Given the description of an element on the screen output the (x, y) to click on. 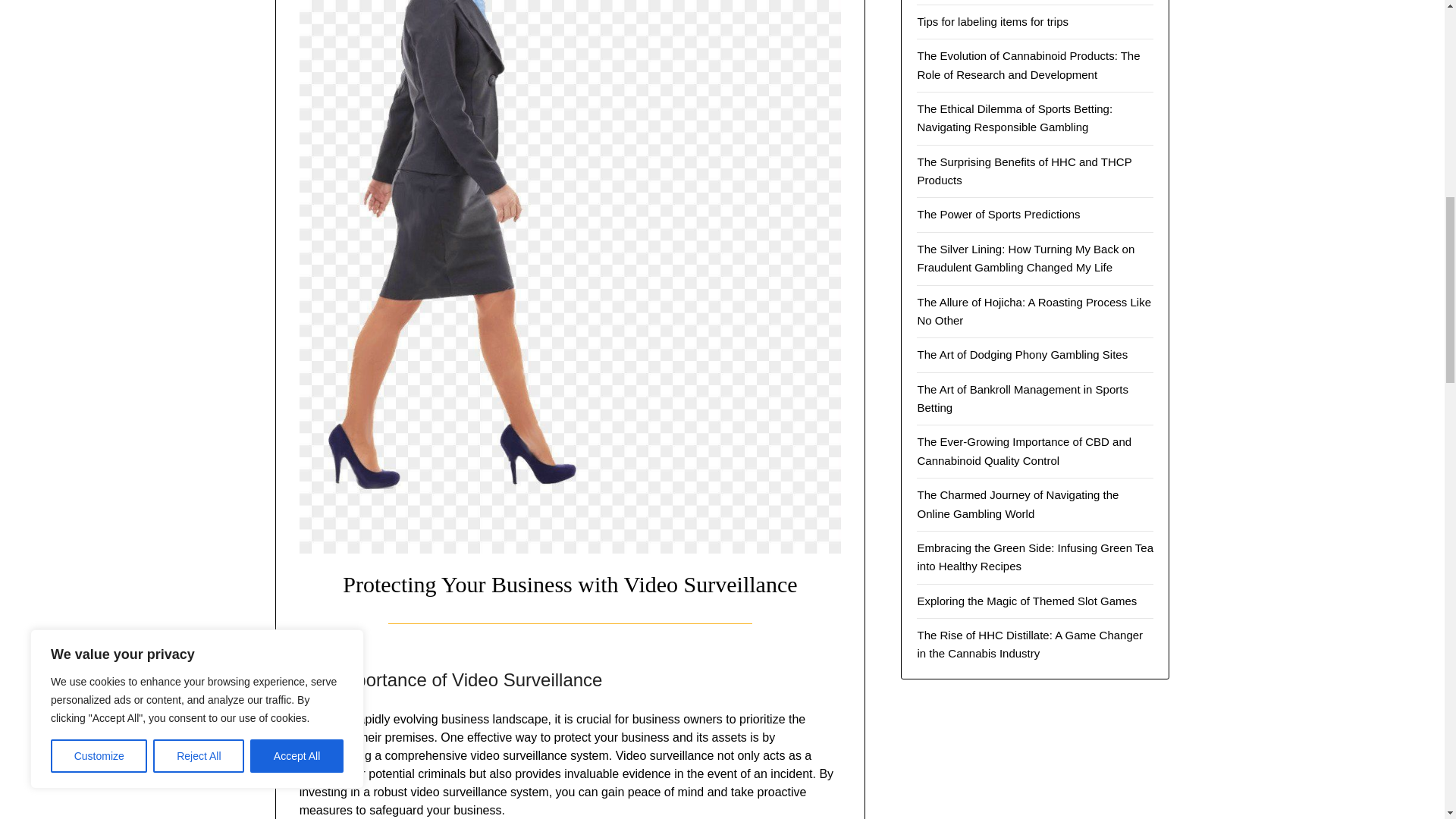
Tips for labeling items for trips (992, 21)
The Allure of Hojicha: A Roasting Process Like No Other (1034, 310)
The Surprising Benefits of HHC and THCP Products (1024, 170)
The Power of Sports Predictions (998, 214)
